Given the description of an element on the screen output the (x, y) to click on. 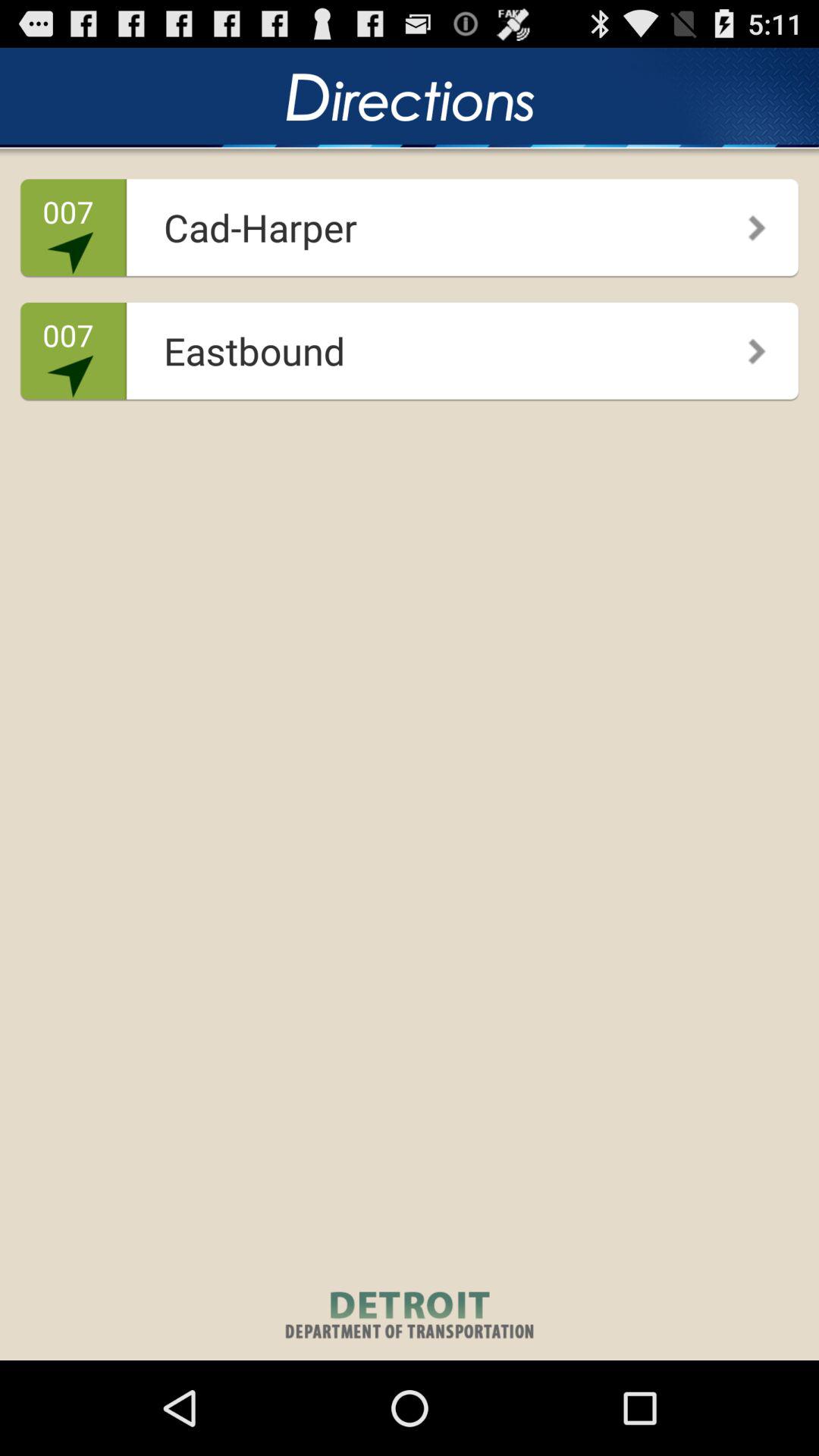
launch the icon to the right of cad-harper icon (746, 222)
